Given the description of an element on the screen output the (x, y) to click on. 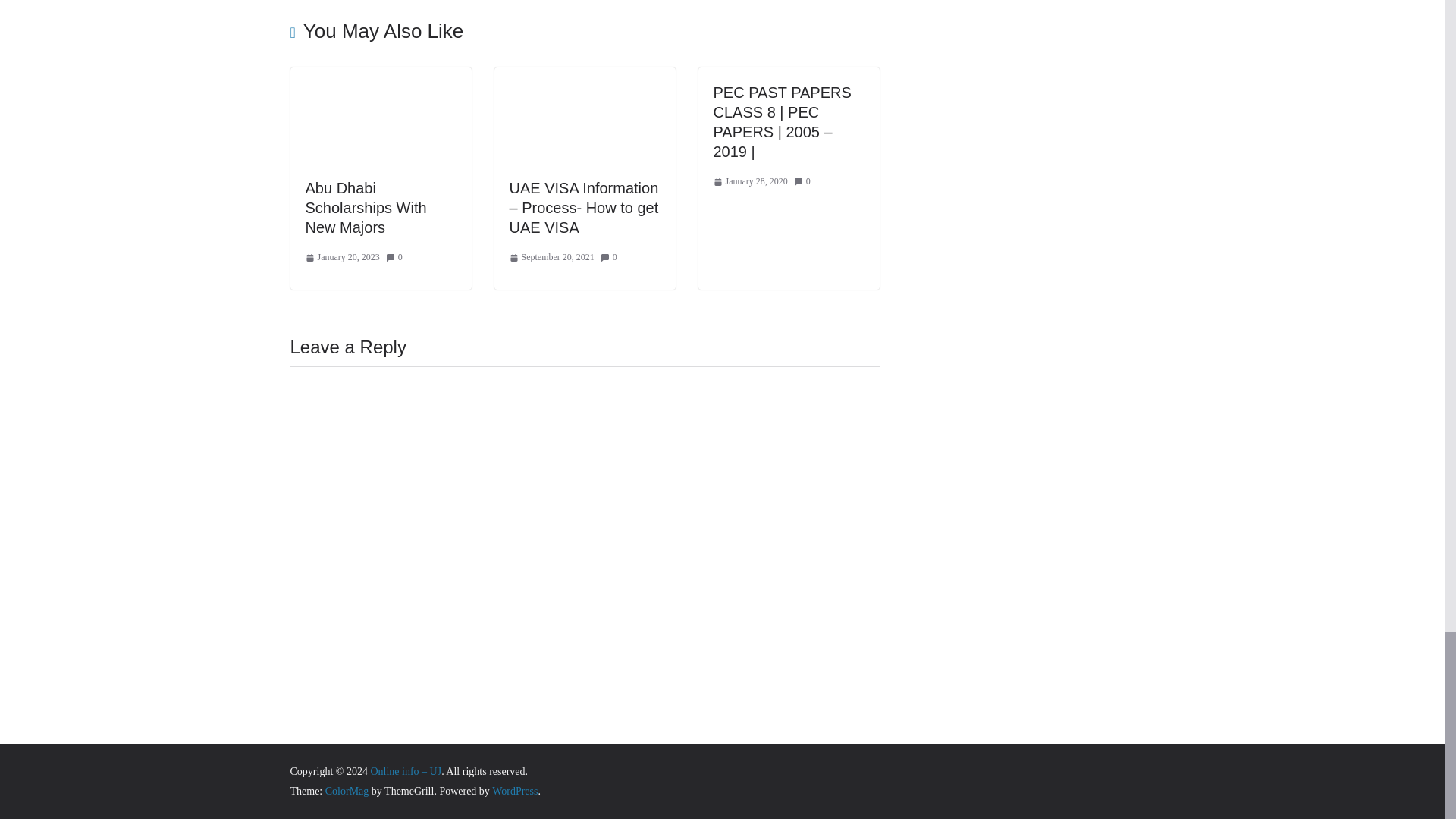
Abu Dhabi Scholarships With New Majors (365, 207)
January 20, 2023 (341, 257)
10:32 am (551, 257)
Abu Dhabi Scholarships With New Majors (379, 77)
8:33 pm (341, 257)
Abu Dhabi Scholarships With New Majors (365, 207)
